Given the description of an element on the screen output the (x, y) to click on. 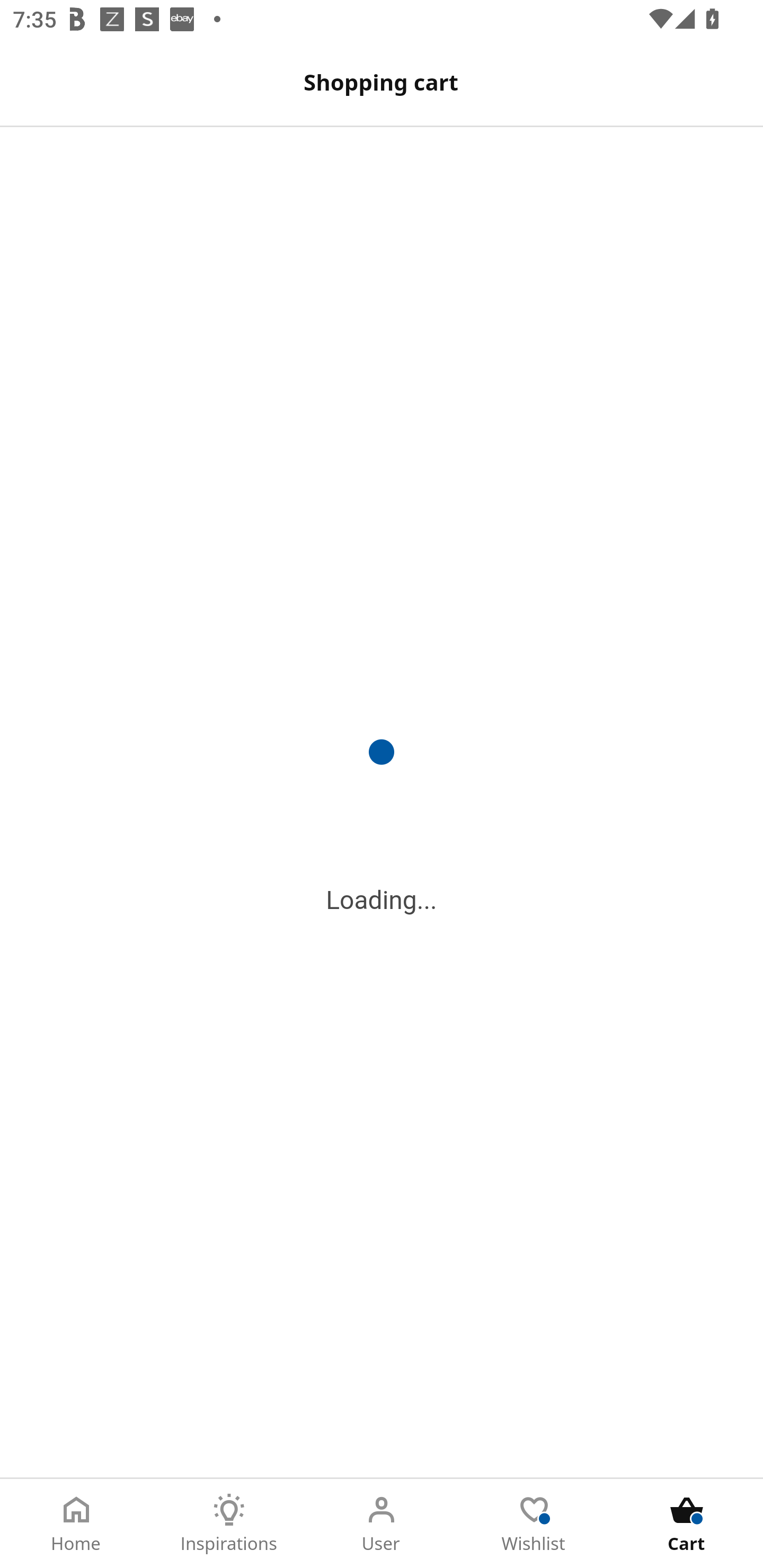
Home
Tab 1 of 5 (76, 1522)
Inspirations
Tab 2 of 5 (228, 1522)
User
Tab 3 of 5 (381, 1522)
Wishlist
Tab 4 of 5 (533, 1522)
Cart
Tab 5 of 5 (686, 1522)
